Given the description of an element on the screen output the (x, y) to click on. 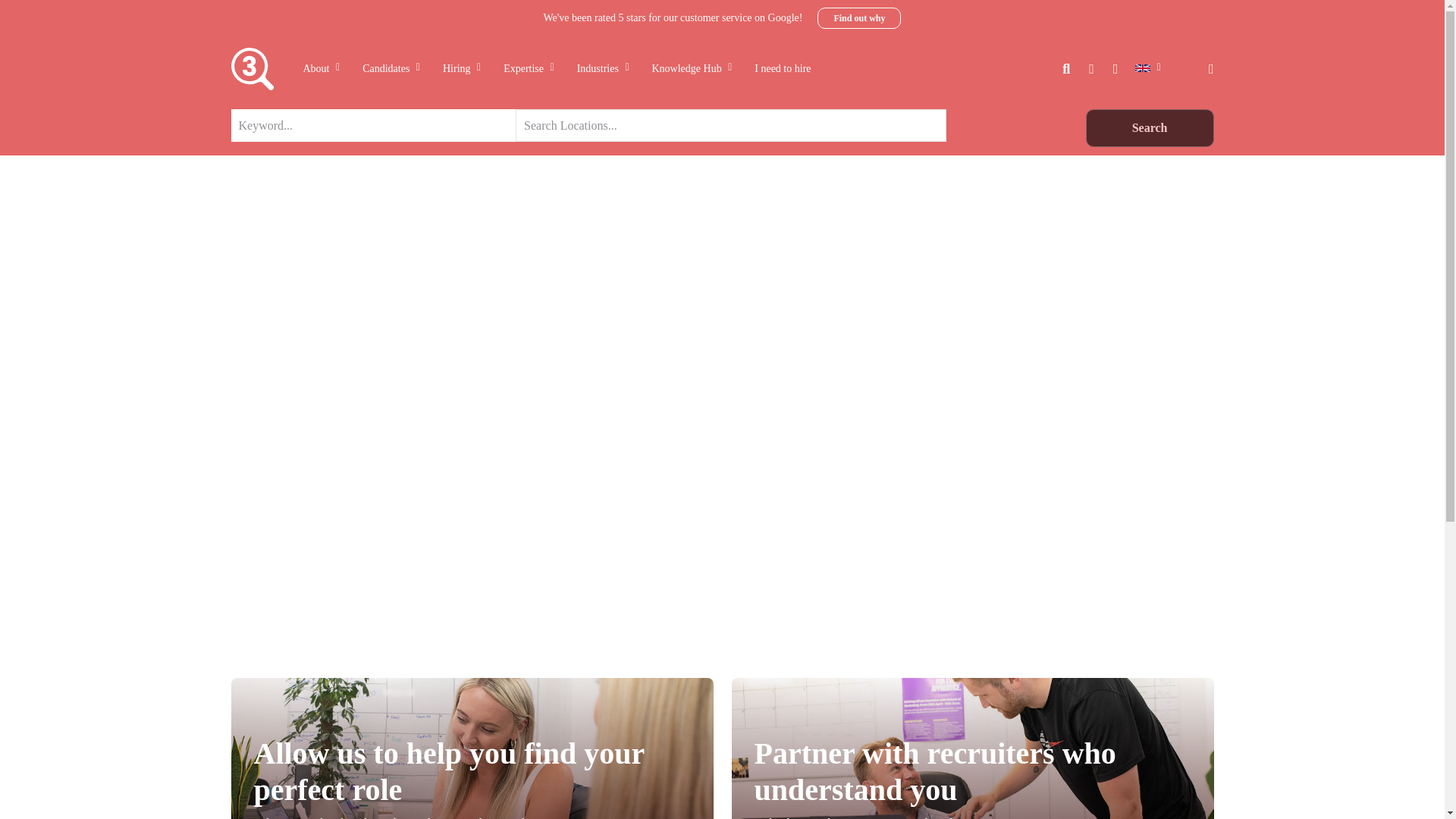
Industries (603, 68)
Expertise (529, 68)
Find out why (858, 17)
About (320, 68)
Hiring (461, 68)
Candidates (390, 68)
